Given the description of an element on the screen output the (x, y) to click on. 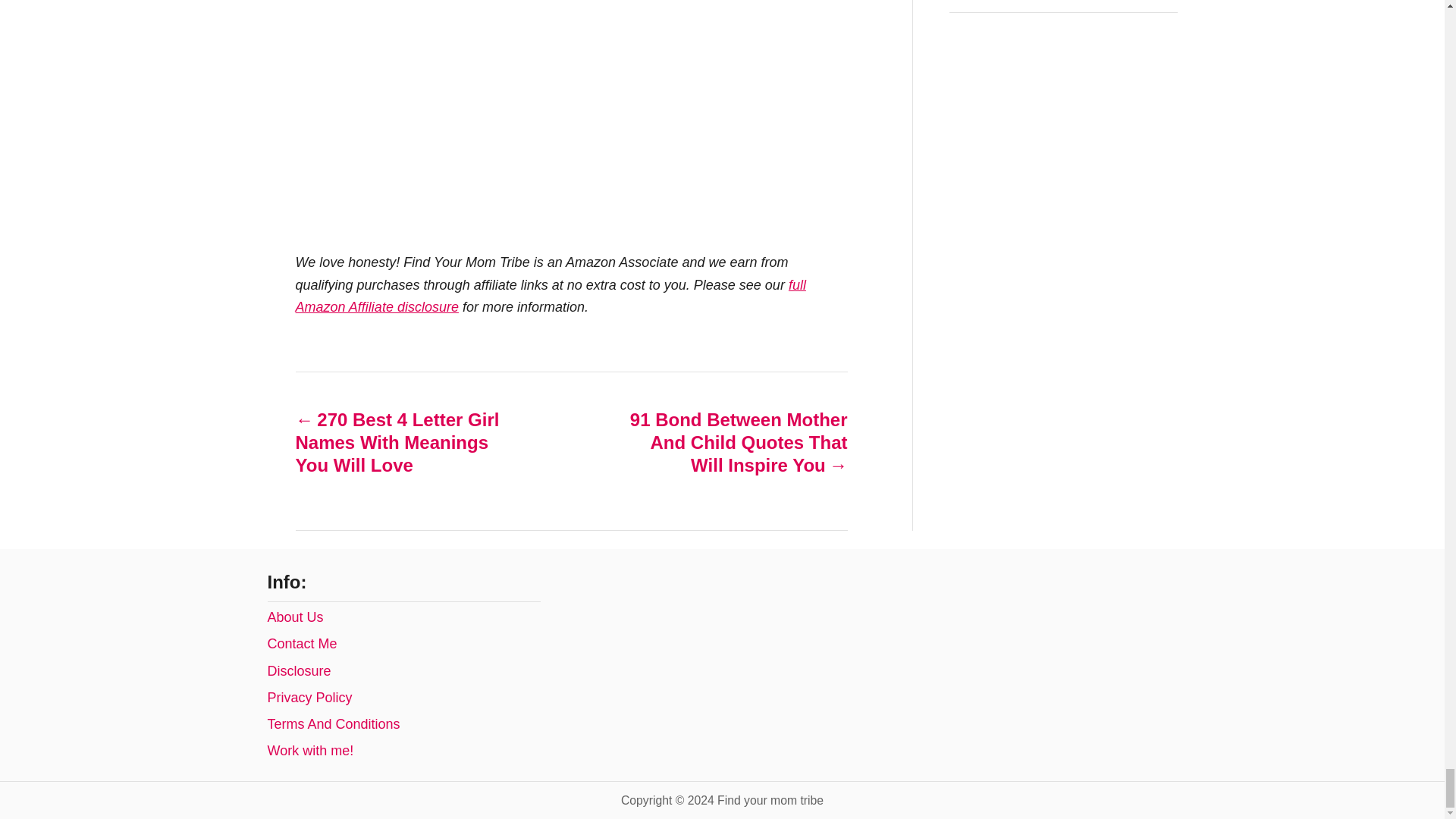
270 Best 4 Letter Girl Names With Meanings You Will Love (405, 442)
full Amazon Affiliate disclosure (550, 295)
